Given the description of an element on the screen output the (x, y) to click on. 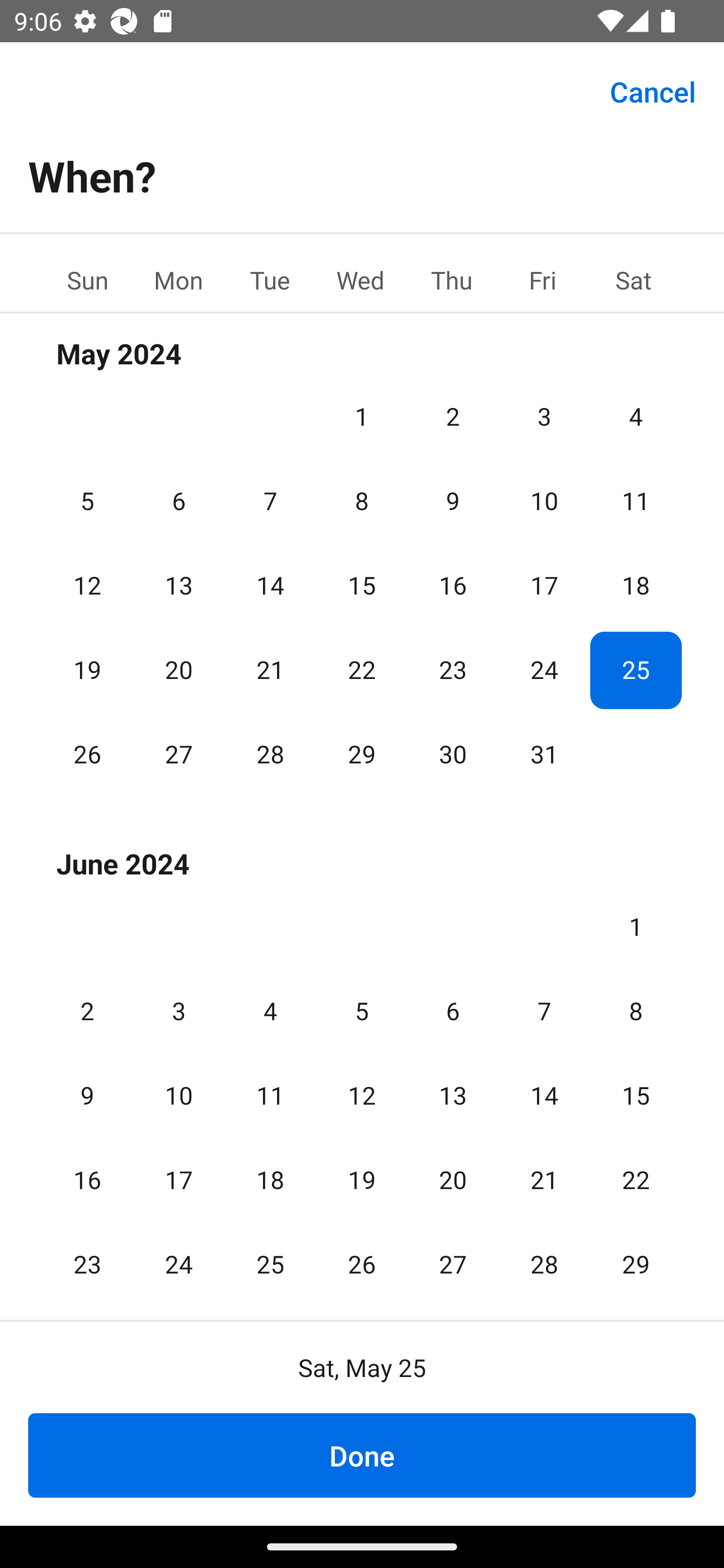
Cancel (652, 90)
Done (361, 1454)
